Given the description of an element on the screen output the (x, y) to click on. 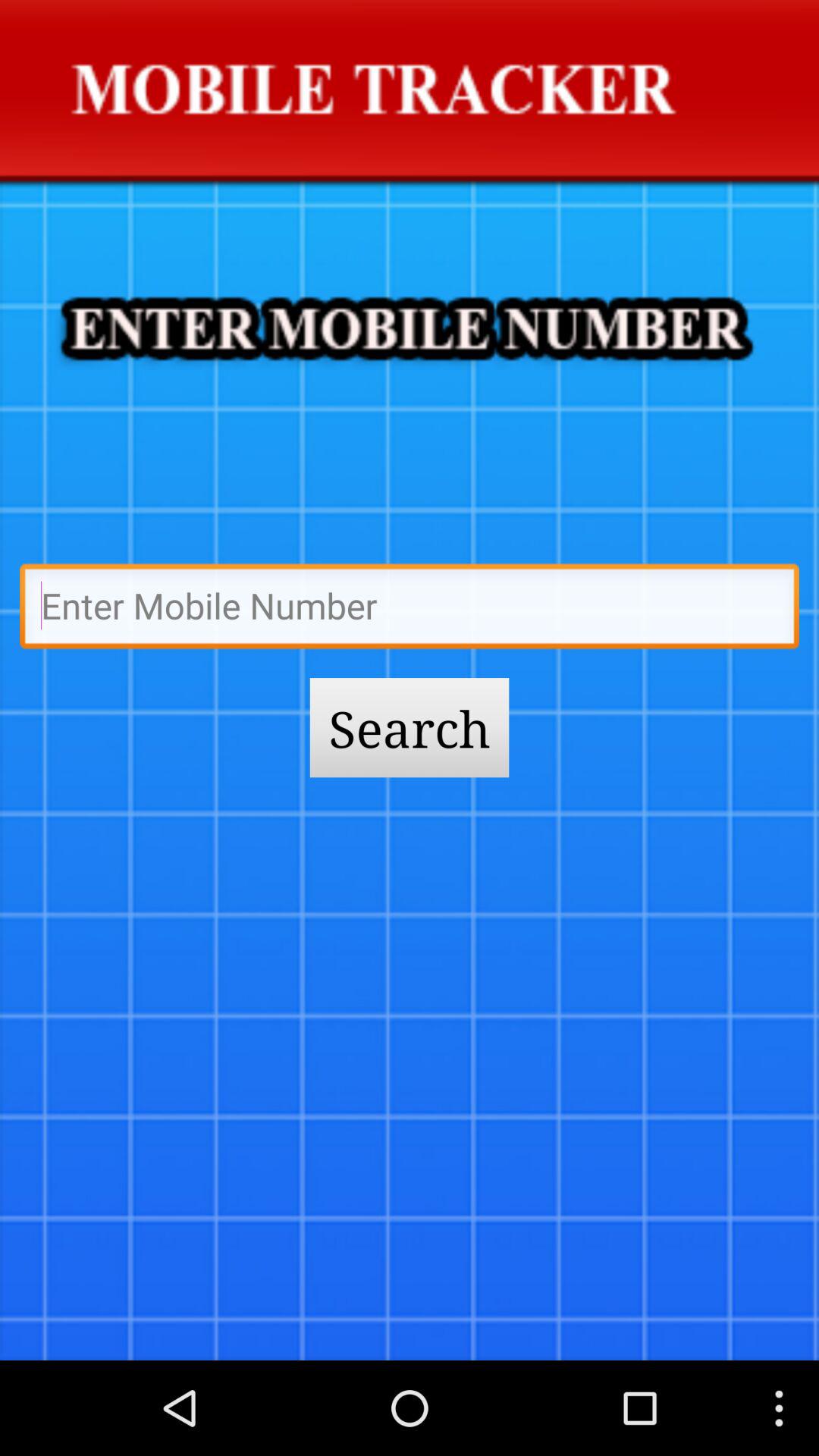
type bthe name (409, 610)
